Given the description of an element on the screen output the (x, y) to click on. 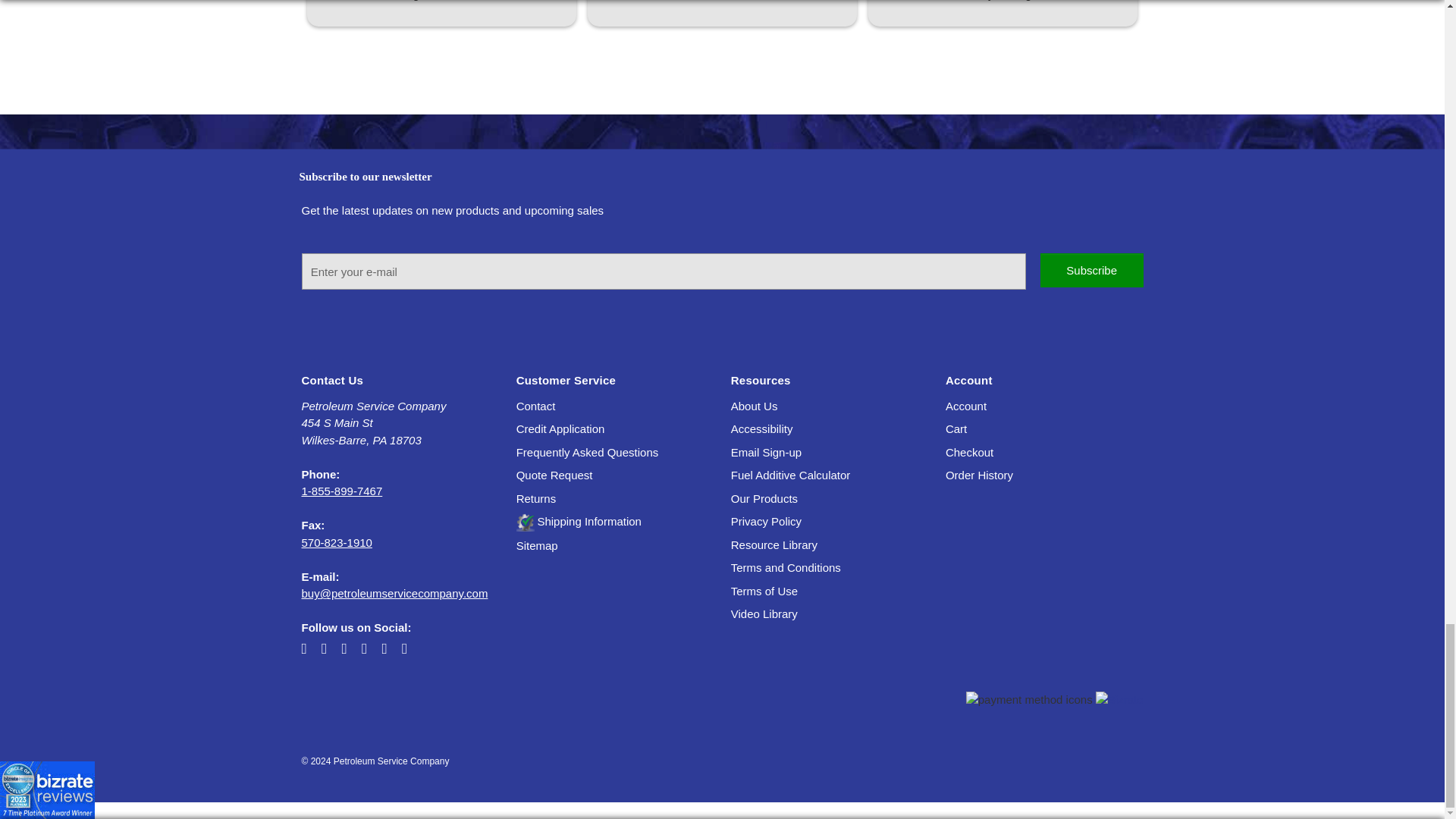
our products (763, 498)
accessibility (761, 428)
email sign-up (766, 451)
frequently asked questions (587, 451)
shipping information (579, 521)
sitemap (536, 545)
quote request (554, 474)
contact (536, 405)
returns (536, 498)
Subscribe (1091, 270)
